Given the description of an element on the screen output the (x, y) to click on. 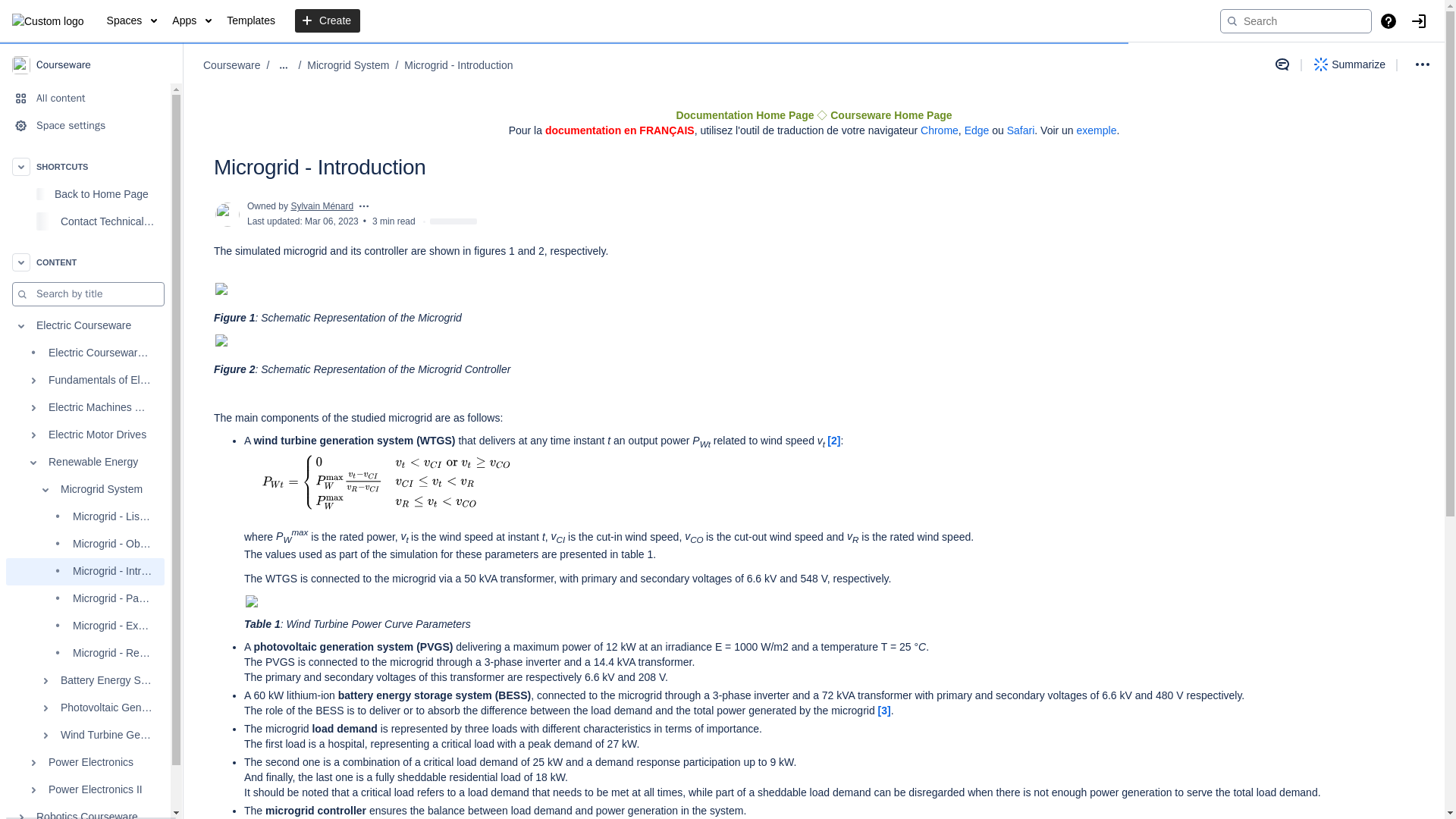
Templates (250, 21)
Contact Technical Support (84, 221)
Courseware (90, 64)
Renewable Energy (84, 461)
SHORTCUTS (84, 166)
Create (327, 21)
Fundamentals of Electrical Engineering (84, 379)
Spaces (131, 21)
Space settings (84, 125)
Electric Courseware (84, 325)
